Given the description of an element on the screen output the (x, y) to click on. 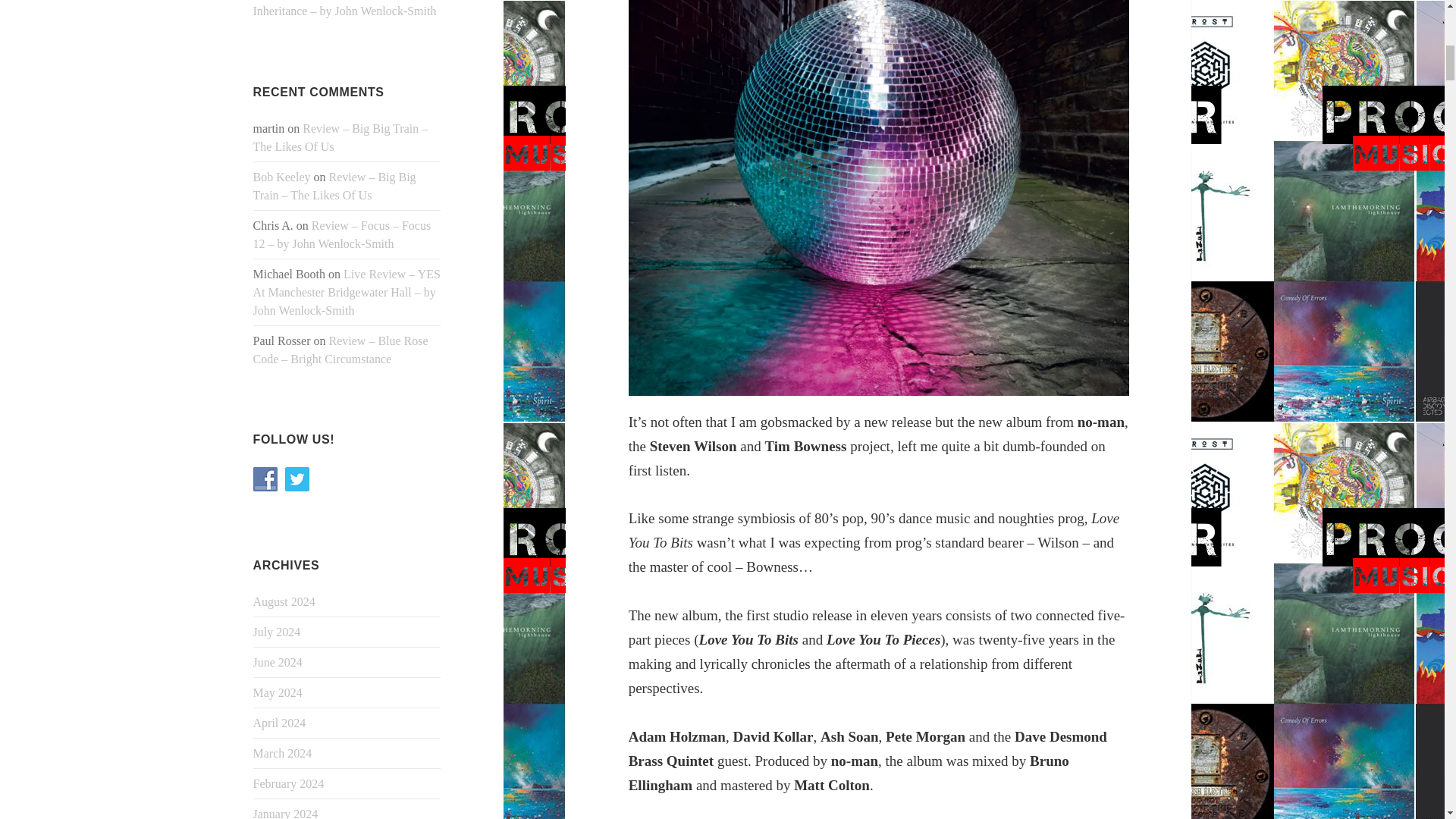
March 2024 (283, 753)
Twitter DTVoicesUK (296, 478)
August 2024 (284, 601)
April 2024 (279, 722)
May 2024 (277, 692)
January 2024 (285, 813)
July 2024 (277, 631)
Bob Keeley (282, 176)
February 2024 (288, 783)
Facebook Progradar (265, 478)
